Given the description of an element on the screen output the (x, y) to click on. 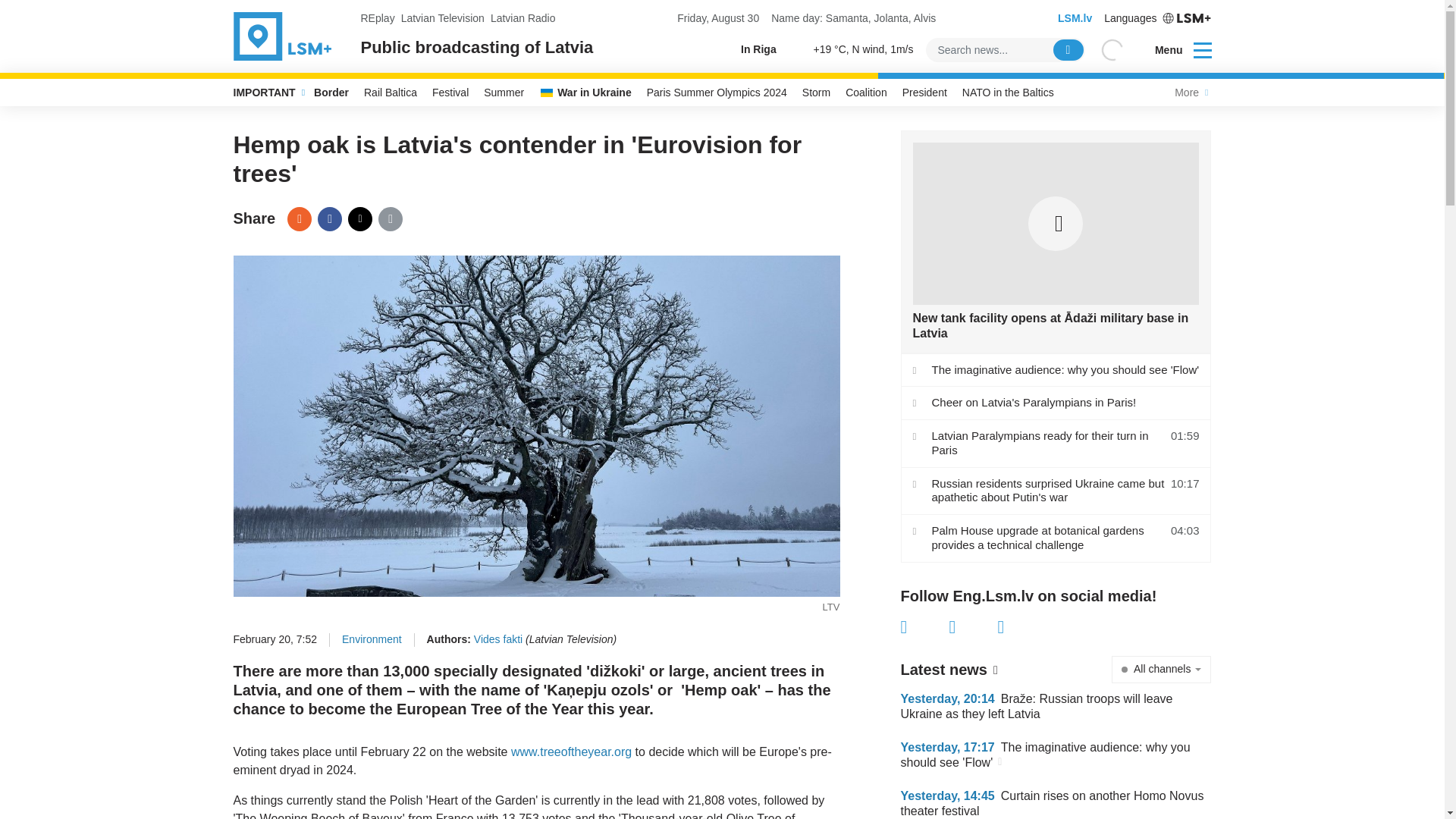
Border (330, 92)
Topics (1202, 49)
Storm (816, 92)
NATO in the Baltics (1008, 92)
President (925, 92)
Rail Baltica (390, 92)
Facebook (329, 218)
Paris Summer Olympics 2024 (716, 92)
Linkedin (1021, 627)
LSM.lv (1075, 18)
